Given the description of an element on the screen output the (x, y) to click on. 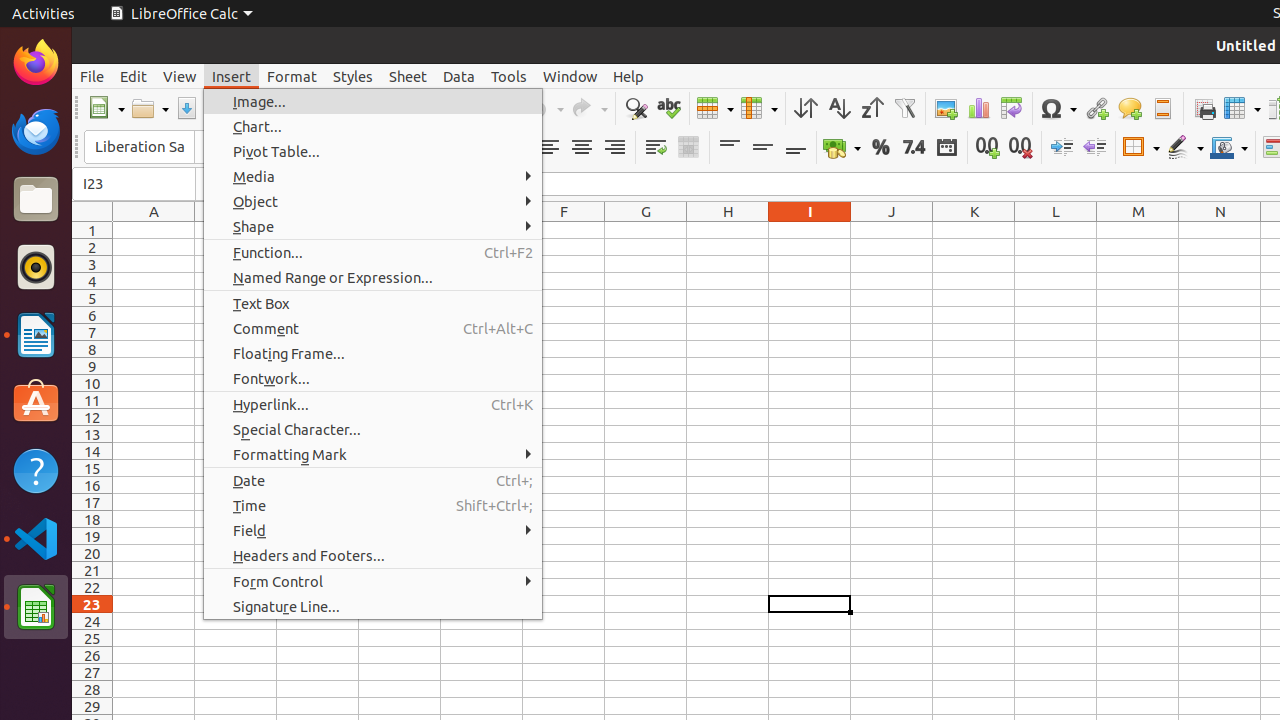
Add Decimal Place Element type: push-button (987, 147)
Insert Element type: menu (231, 76)
Align Right Element type: push-button (614, 147)
Spelling Element type: push-button (668, 108)
Chart Element type: push-button (978, 108)
